Given the description of an element on the screen output the (x, y) to click on. 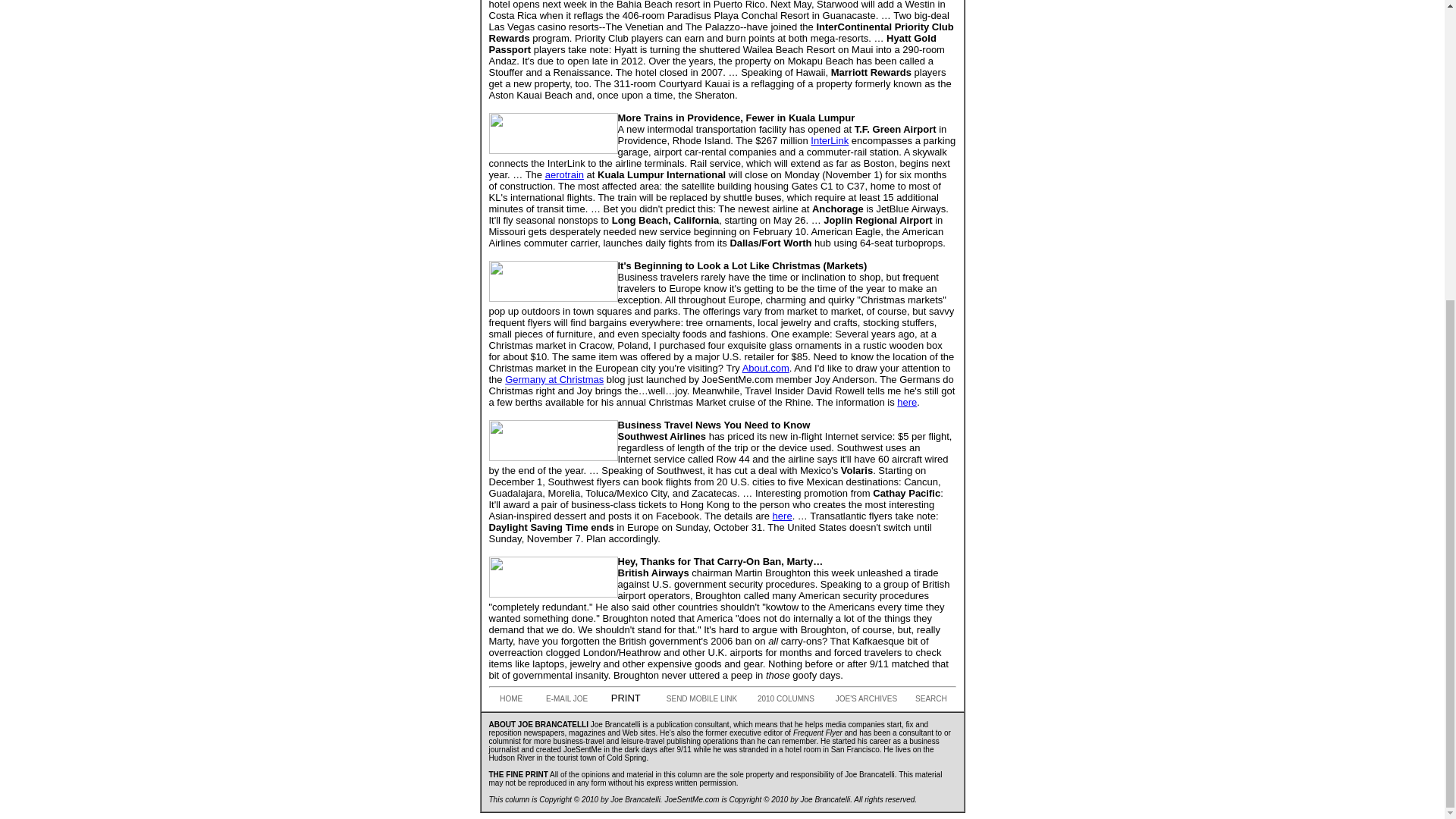
2010 COLUMNS    (783, 698)
here (782, 515)
SEND MOBILE LINK    (696, 698)
HOME    (507, 698)
E-MAIL JOE    (562, 698)
PRINT    (621, 697)
aerotrain (563, 174)
InterLink (829, 140)
Germany at Christmas (554, 378)
JOE'S ARCHIVES   (862, 698)
About.com (765, 367)
SEARCH (925, 698)
here (906, 401)
